Given the description of an element on the screen output the (x, y) to click on. 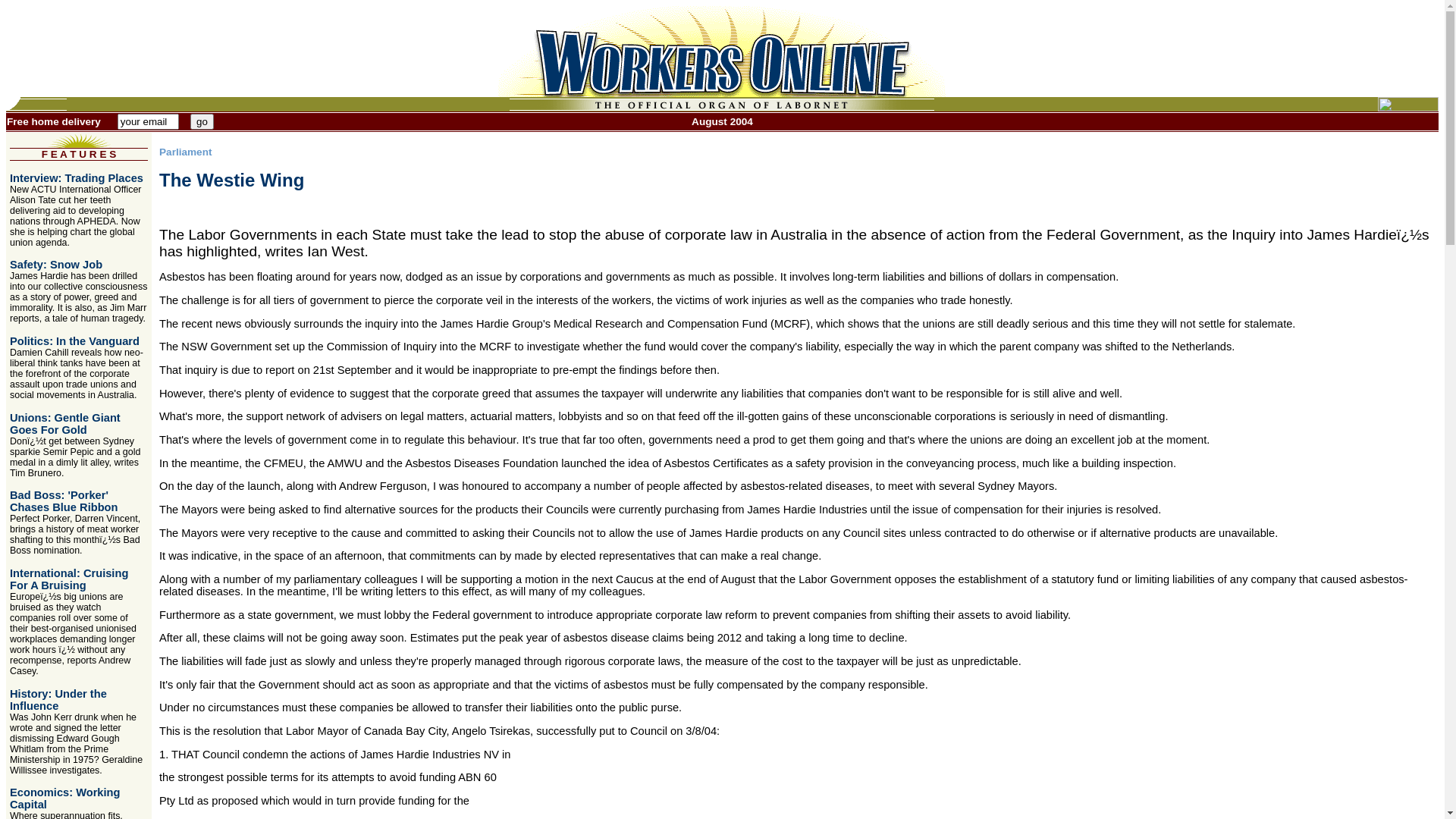
Unions: Gentle Giant Goes For Gold Element type: text (64, 423)
Safety: Snow Job Element type: text (55, 264)
go Element type: text (201, 121)
Politics: In the Vanguard Element type: text (74, 341)
International: Cruising For A Bruising Element type: text (68, 579)
Interview: Trading Places Element type: text (76, 178)
History: Under the Influence Element type: text (57, 699)
Bad Boss: 'Porker' Chases Blue Ribbon Element type: text (63, 501)
Economics: Working Capital Element type: text (64, 798)
